Given the description of an element on the screen output the (x, y) to click on. 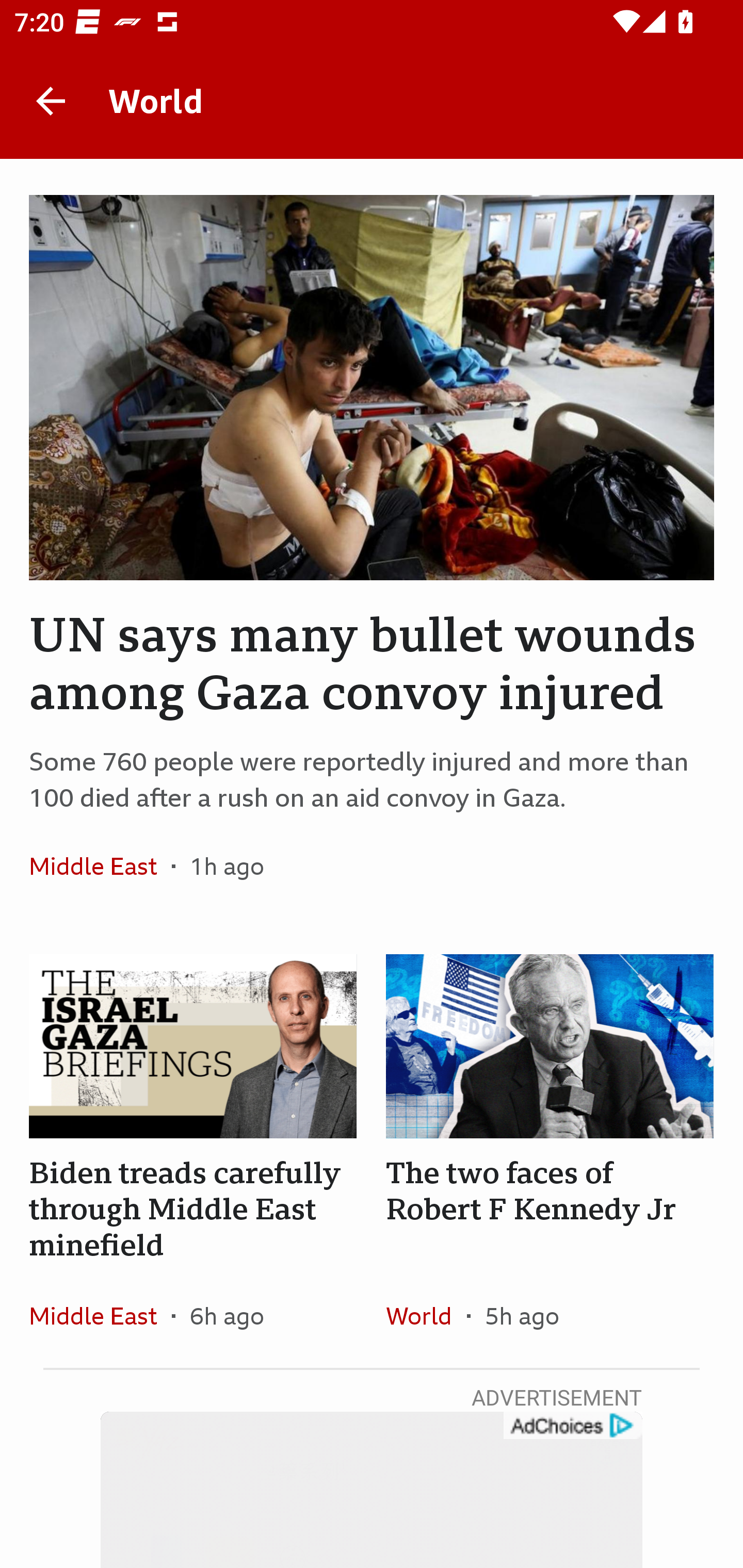
Back (50, 101)
Middle East In the section Middle East (99, 865)
Middle East In the section Middle East (99, 1315)
World In the section World (425, 1315)
get?name=admarker-full-tl (571, 1425)
